Given the description of an element on the screen output the (x, y) to click on. 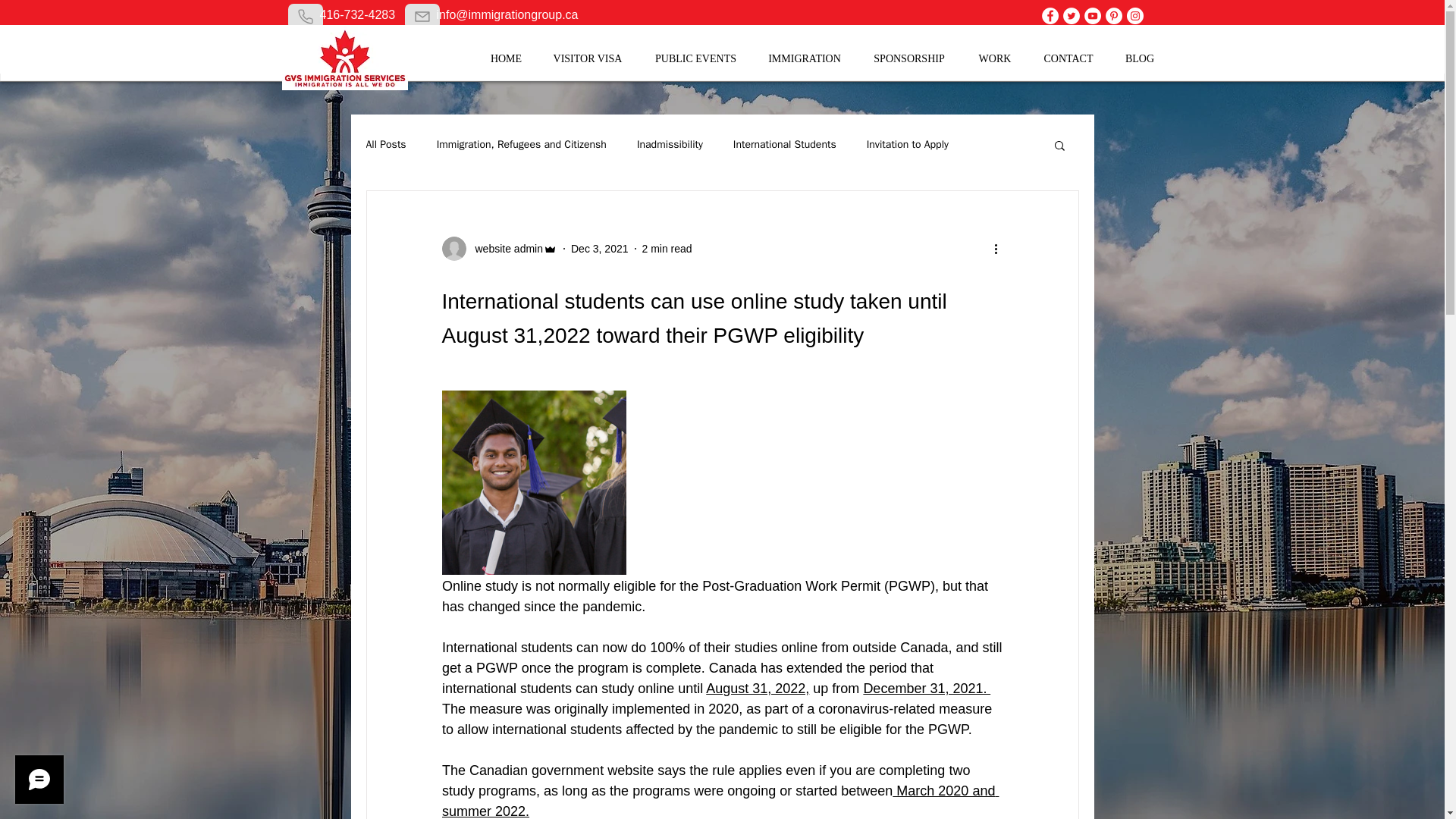
416-732-4283 (358, 14)
WORK (994, 58)
Invitation to Apply (907, 144)
Inadmissibility (670, 144)
website admin (504, 248)
PUBLIC EVENTS (696, 58)
SPONSORSHIP (909, 58)
Wix Chat (35, 783)
Dec 3, 2021 (599, 248)
CONTACT (1067, 58)
